Given the description of an element on the screen output the (x, y) to click on. 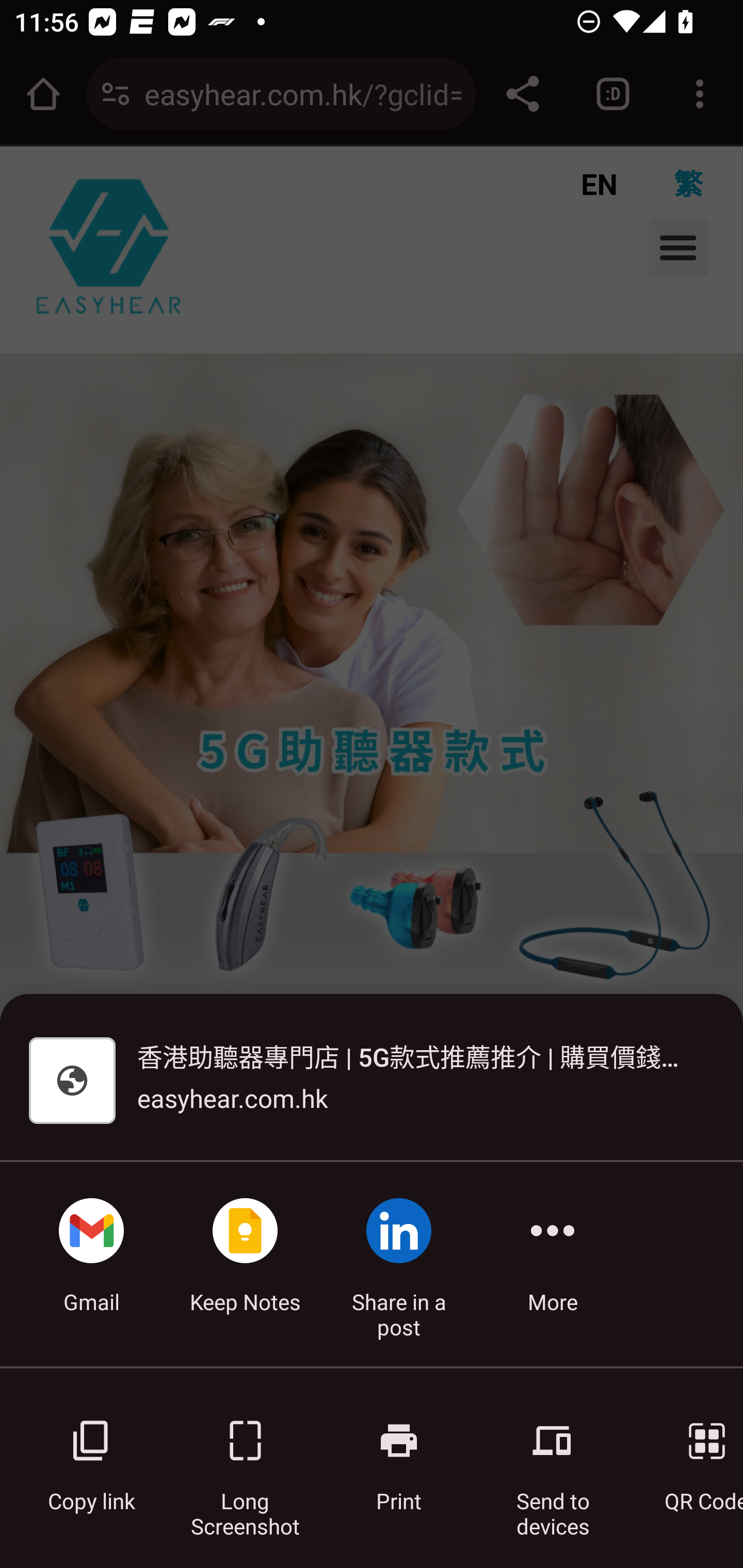
Gmail (90, 1263)
Keep Notes (244, 1263)
Share in a post (398, 1263)
More (552, 1263)
Copy link (90, 1454)
Long Screenshot (244, 1454)
Print (398, 1454)
Send to devices (552, 1454)
QR Code (693, 1454)
